Given the description of an element on the screen output the (x, y) to click on. 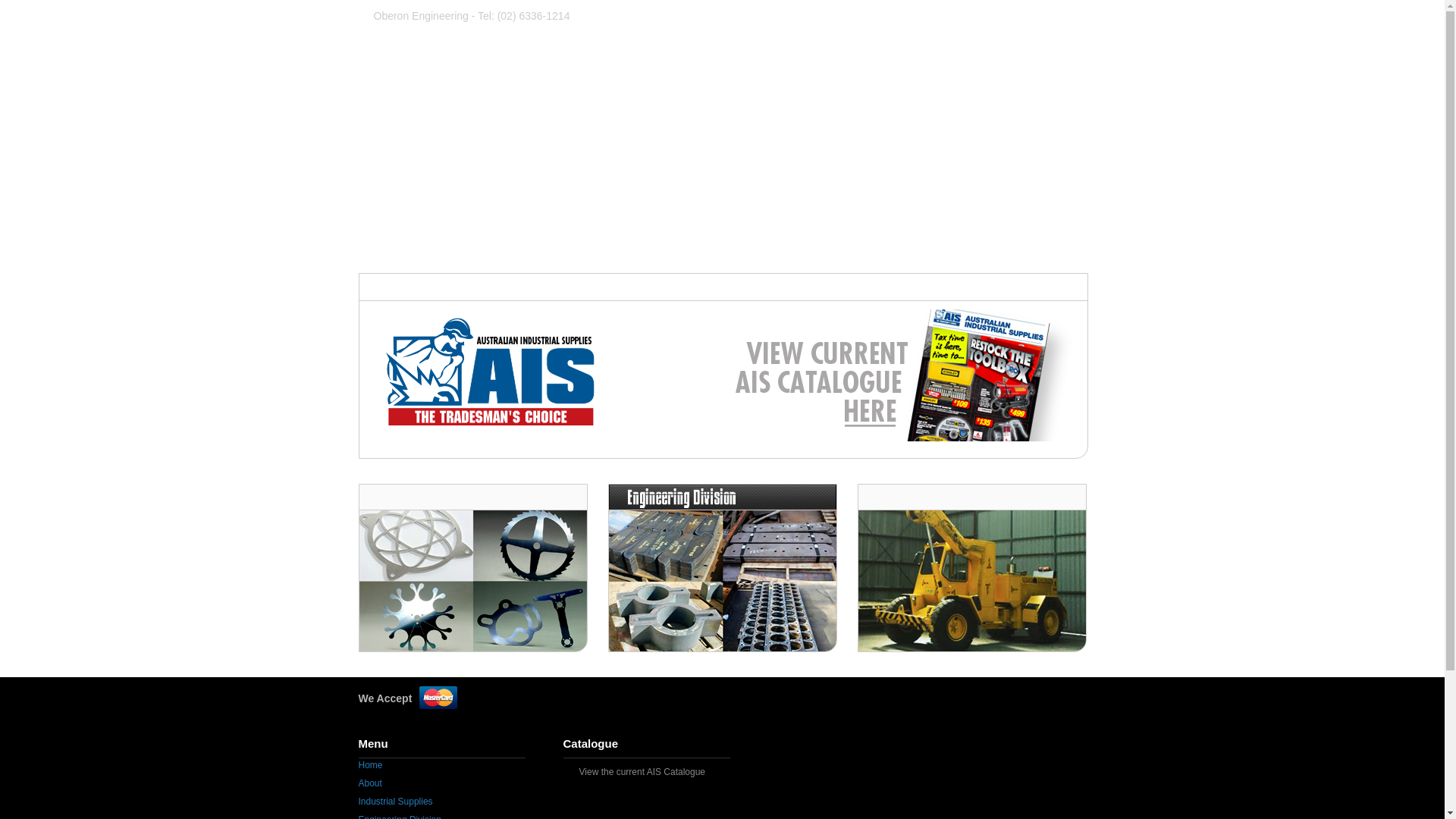
View the current AIS Catalogue Element type: text (642, 771)
About Element type: text (461, 47)
About Element type: text (369, 783)
Home Element type: text (369, 764)
Engineering Division Element type: text (693, 47)
Home Element type: text (391, 47)
Industrial Supplies Element type: text (394, 801)
Contact Element type: text (1017, 47)
Laser Division Element type: text (815, 47)
Industrial Supplies Element type: text (559, 47)
Crane Division Element type: text (924, 47)
